Given the description of an element on the screen output the (x, y) to click on. 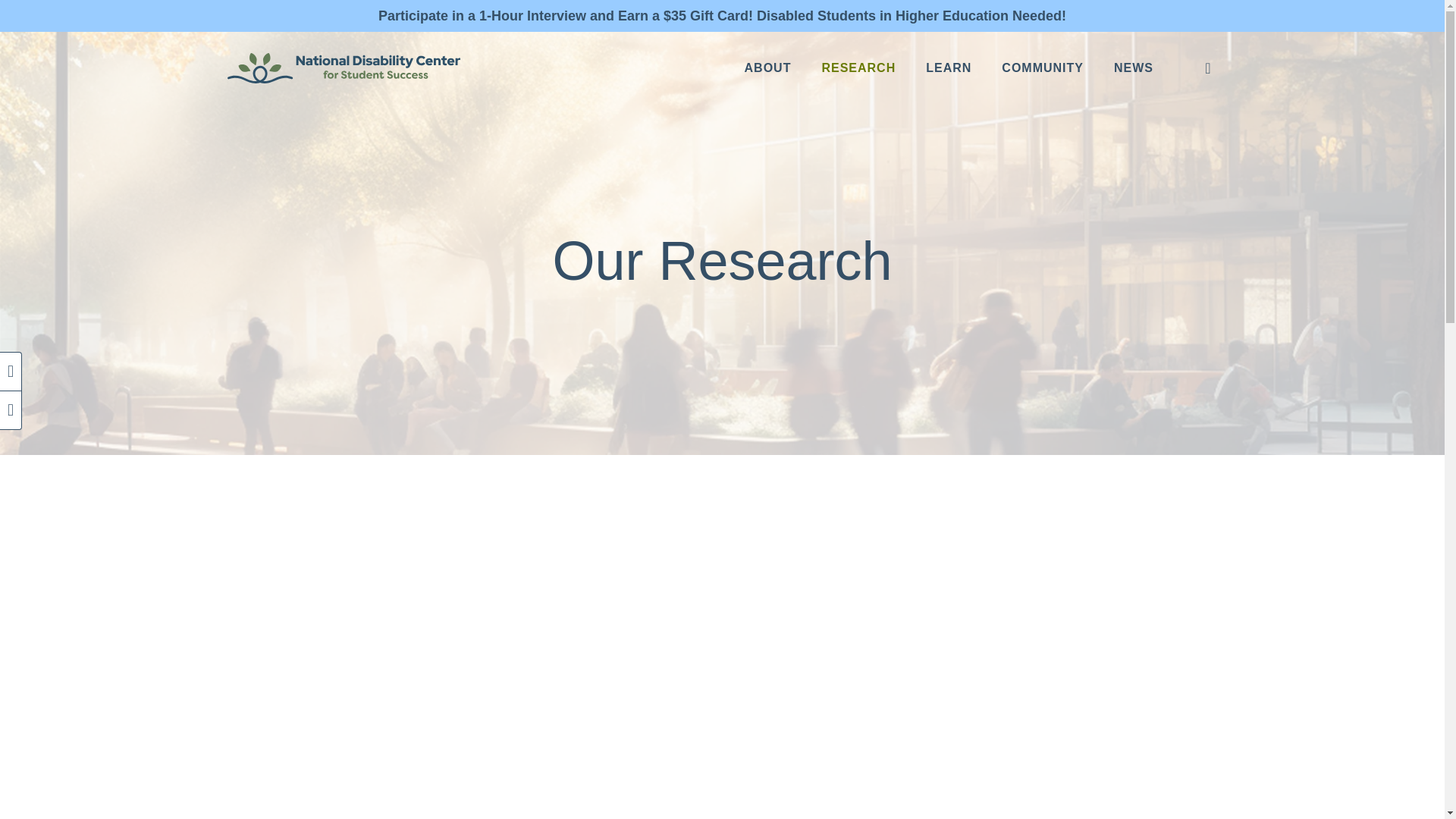
COMMUNITY (1043, 68)
RESEARCH (858, 68)
NEWS (1134, 68)
ABOUT (767, 68)
Toggle Font size (10, 409)
search (1207, 68)
LEARN (949, 68)
Toggle High Contrast (10, 371)
